Given the description of an element on the screen output the (x, y) to click on. 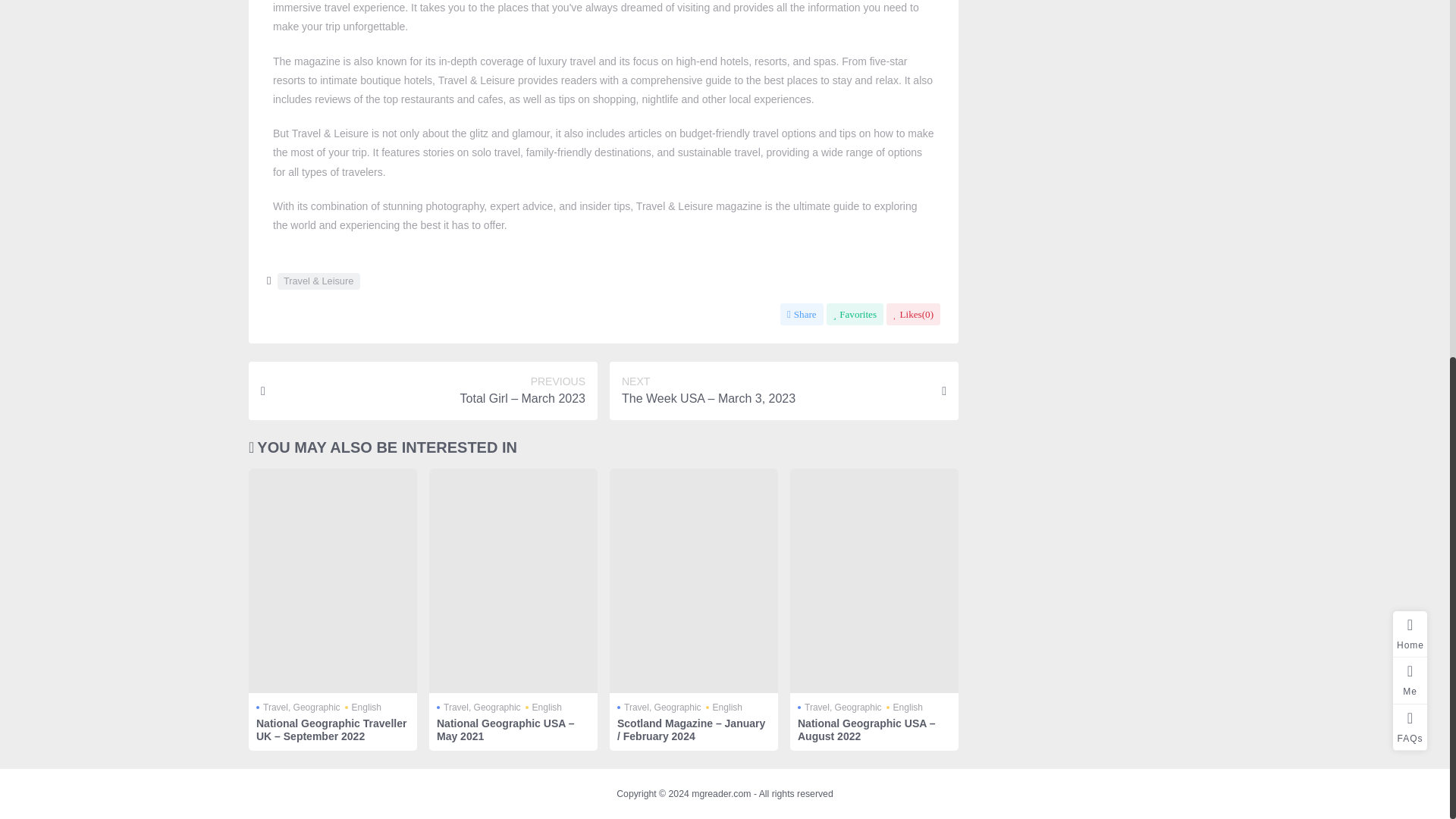
mgreader.com (721, 793)
English (904, 707)
Share (802, 314)
Travel, Geographic (839, 707)
Travel, Geographic (659, 707)
English (363, 707)
Travel, Geographic (478, 707)
Travel, Geographic (298, 707)
Favorites (855, 314)
Home (1409, 12)
English (543, 707)
English (724, 707)
